Given the description of an element on the screen output the (x, y) to click on. 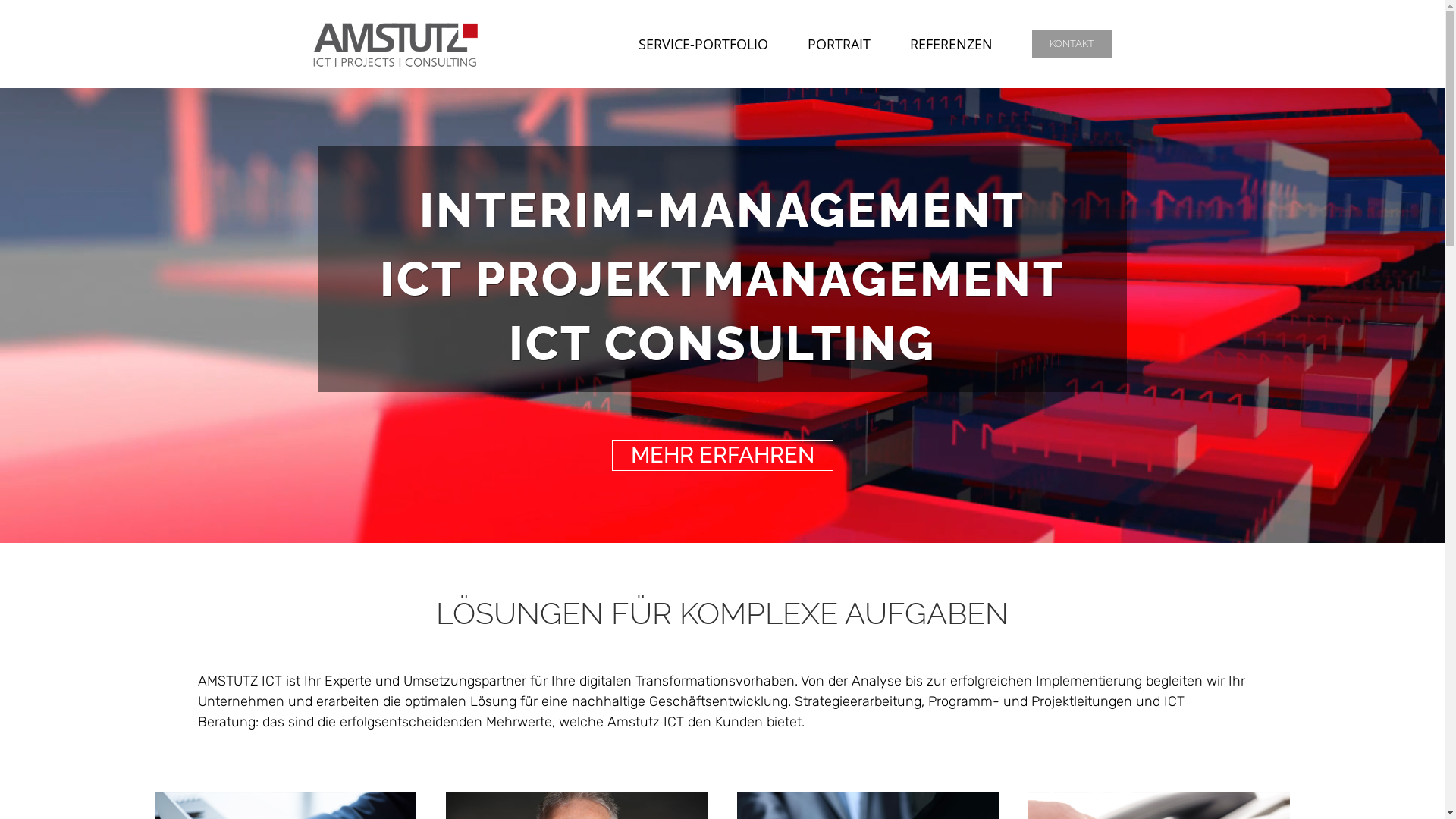
REFERENZEN Element type: text (950, 43)
KONTAKT Element type: text (1071, 43)
PORTRAIT Element type: text (838, 43)
SERVICE-PORTFOLIO Element type: text (702, 43)
MEHR ERFAHREN Element type: text (721, 454)
